Given the description of an element on the screen output the (x, y) to click on. 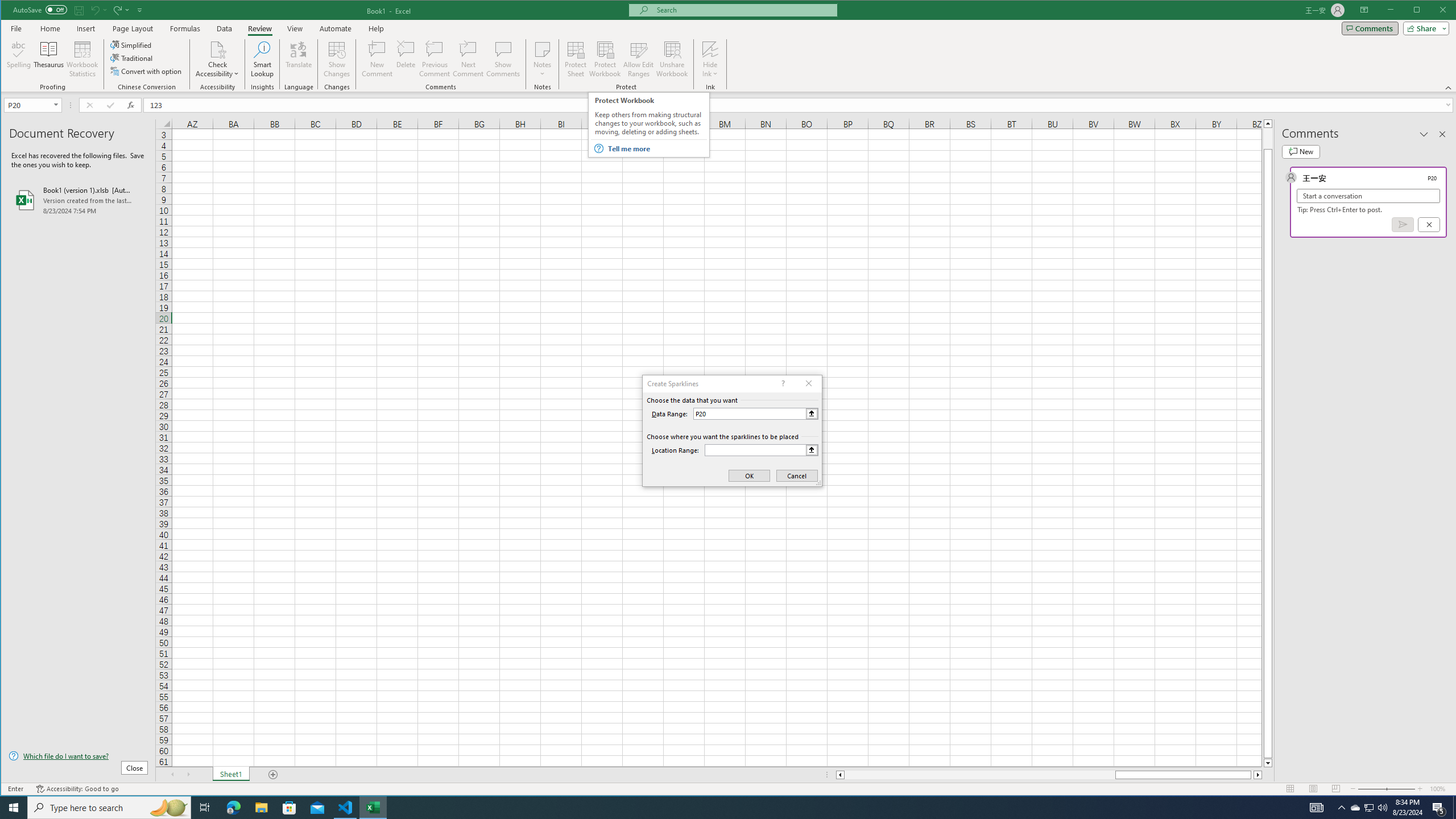
Book1 (version 1).xlsb  [AutoRecovered] (78, 199)
Maximize (1432, 11)
Protect Workbook... (604, 59)
Protect Sheet... (575, 59)
Close pane (1441, 133)
Post comment (Ctrl + Enter) (1402, 224)
Class: MsoCommandBar (728, 45)
